Given the description of an element on the screen output the (x, y) to click on. 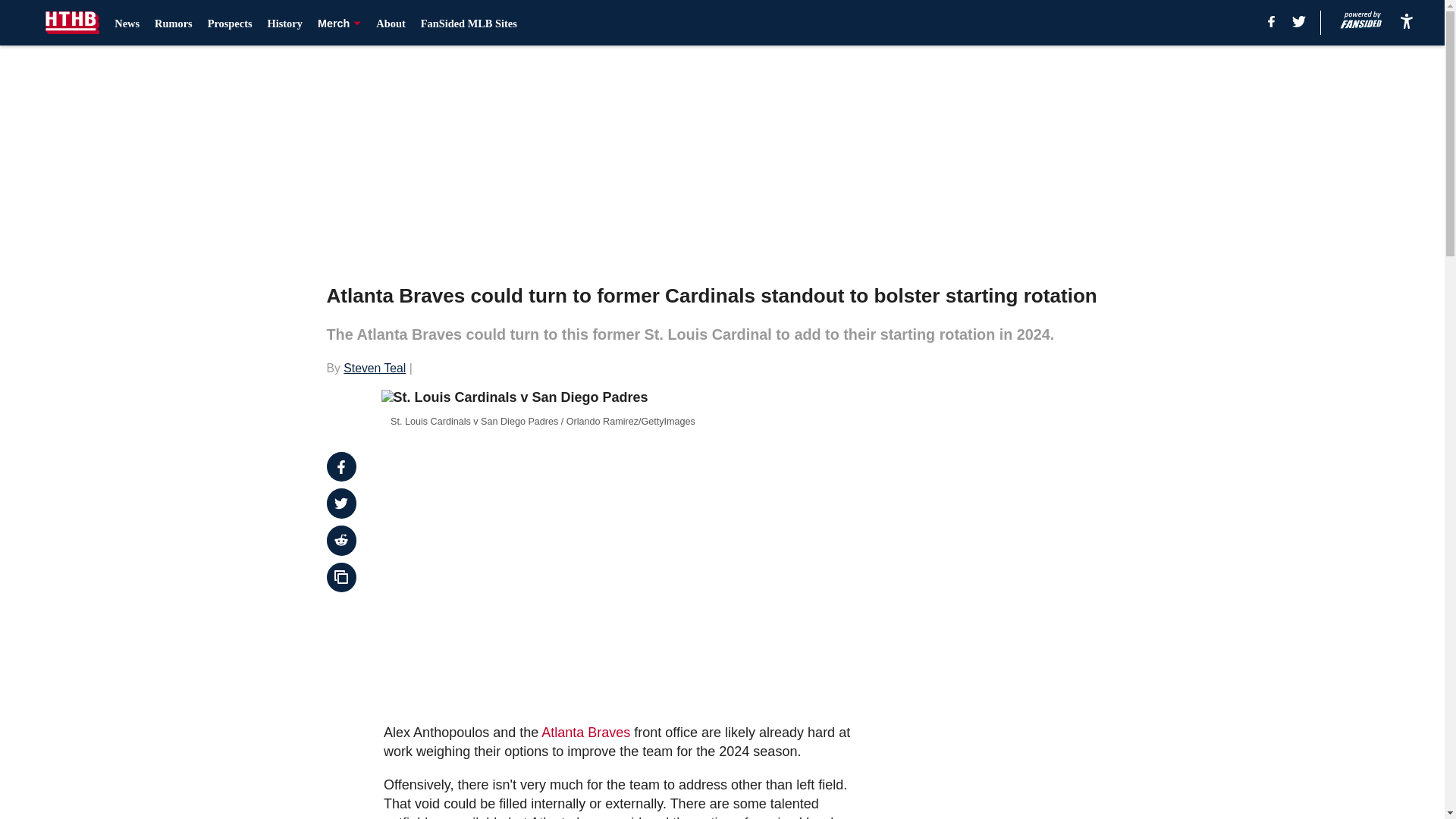
History (284, 23)
News (127, 23)
Prospects (229, 23)
Atlanta Braves (585, 732)
Rumors (173, 23)
Steven Teal (374, 367)
FanSided MLB Sites (468, 23)
About (389, 23)
